Given the description of an element on the screen output the (x, y) to click on. 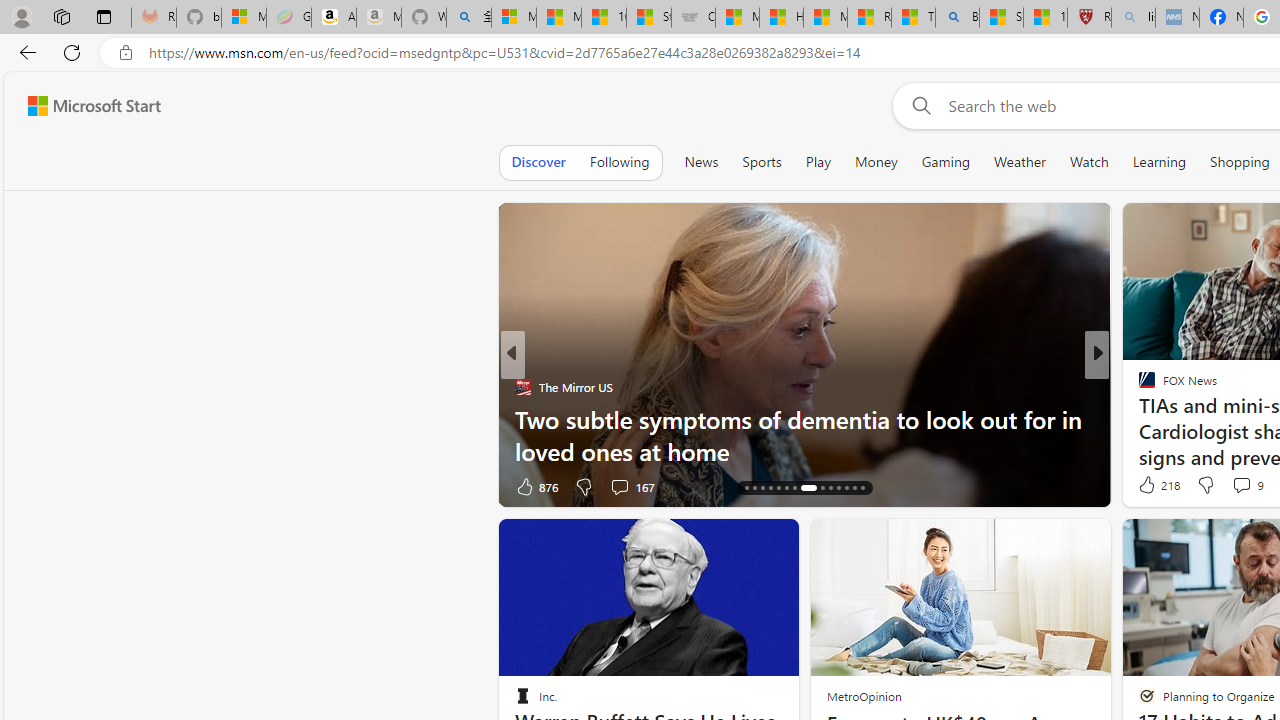
Learning (1159, 161)
View comments 66 Comment (11, 485)
ABC News (1138, 386)
AutomationID: tab-19 (778, 487)
AutomationID: tab-20 (786, 487)
12 Popular Science Lies that Must be Corrected (1045, 17)
419 Like (1151, 486)
The Hearty Soul (1138, 386)
